Given the description of an element on the screen output the (x, y) to click on. 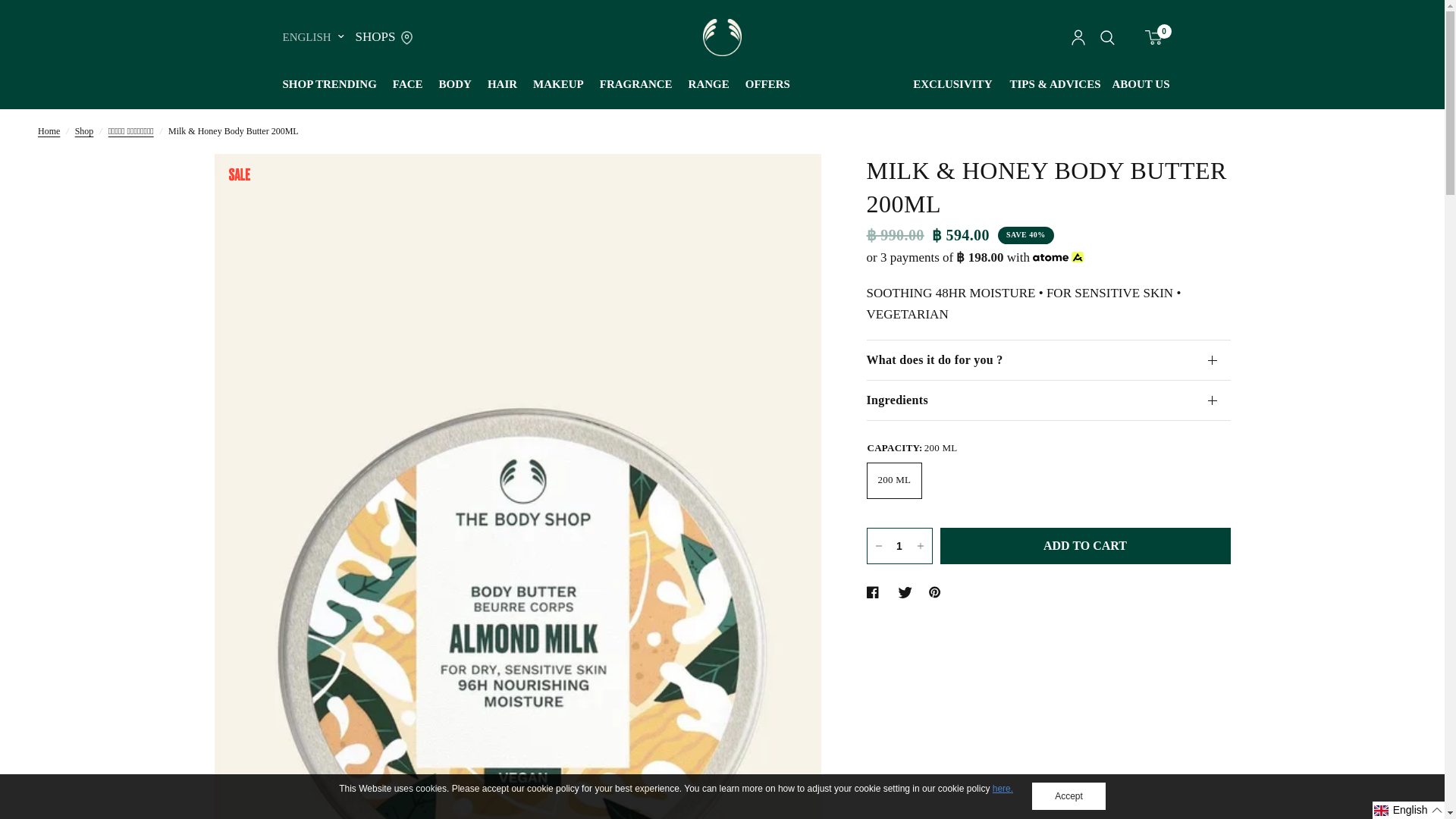
1 (898, 545)
